Given the description of an element on the screen output the (x, y) to click on. 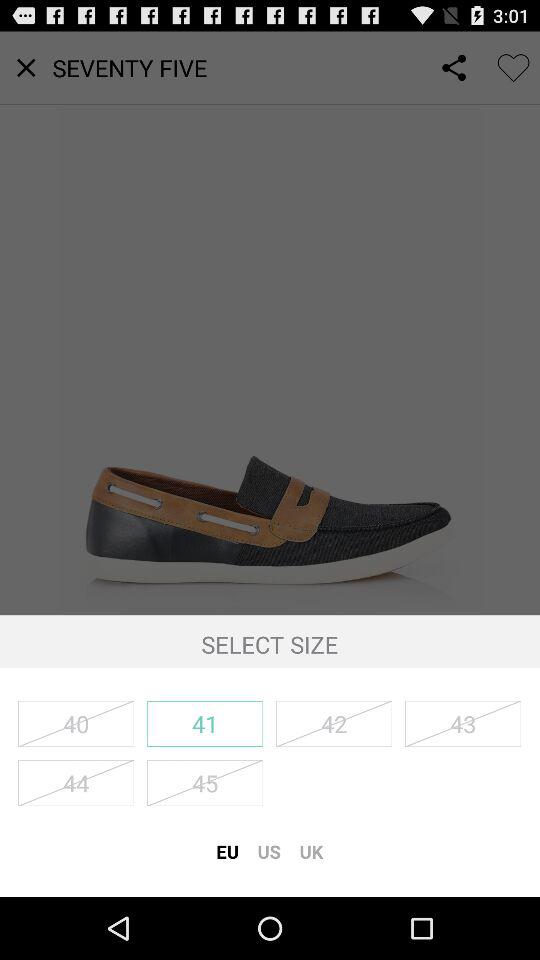
turn off item to the right of us (311, 851)
